Given the description of an element on the screen output the (x, y) to click on. 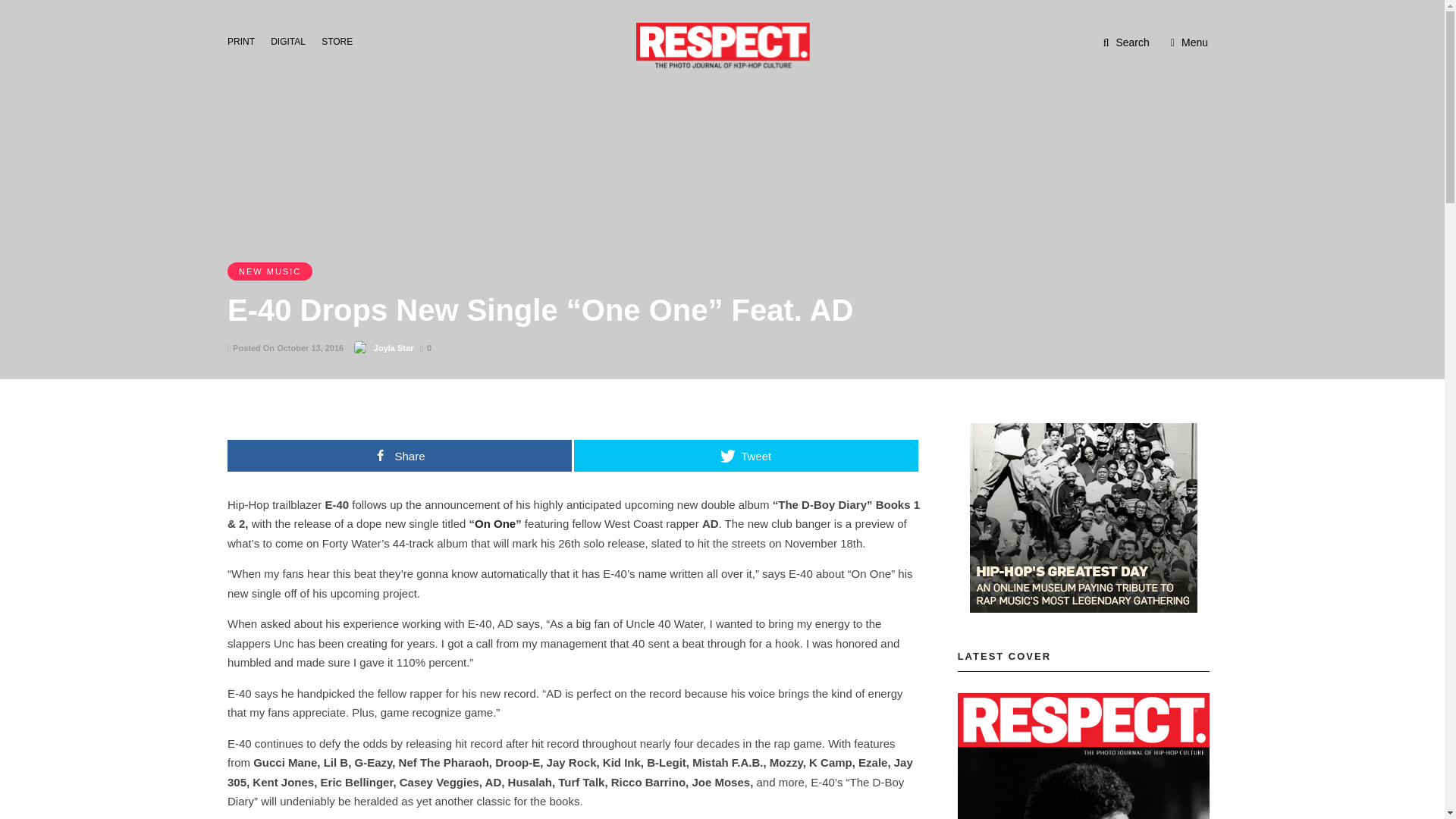
Joyla Star (393, 347)
STORE (341, 40)
Menu (1189, 41)
Search (1126, 41)
NEW MUSIC (270, 271)
DIGITAL (292, 40)
PRINT (245, 40)
